Given the description of an element on the screen output the (x, y) to click on. 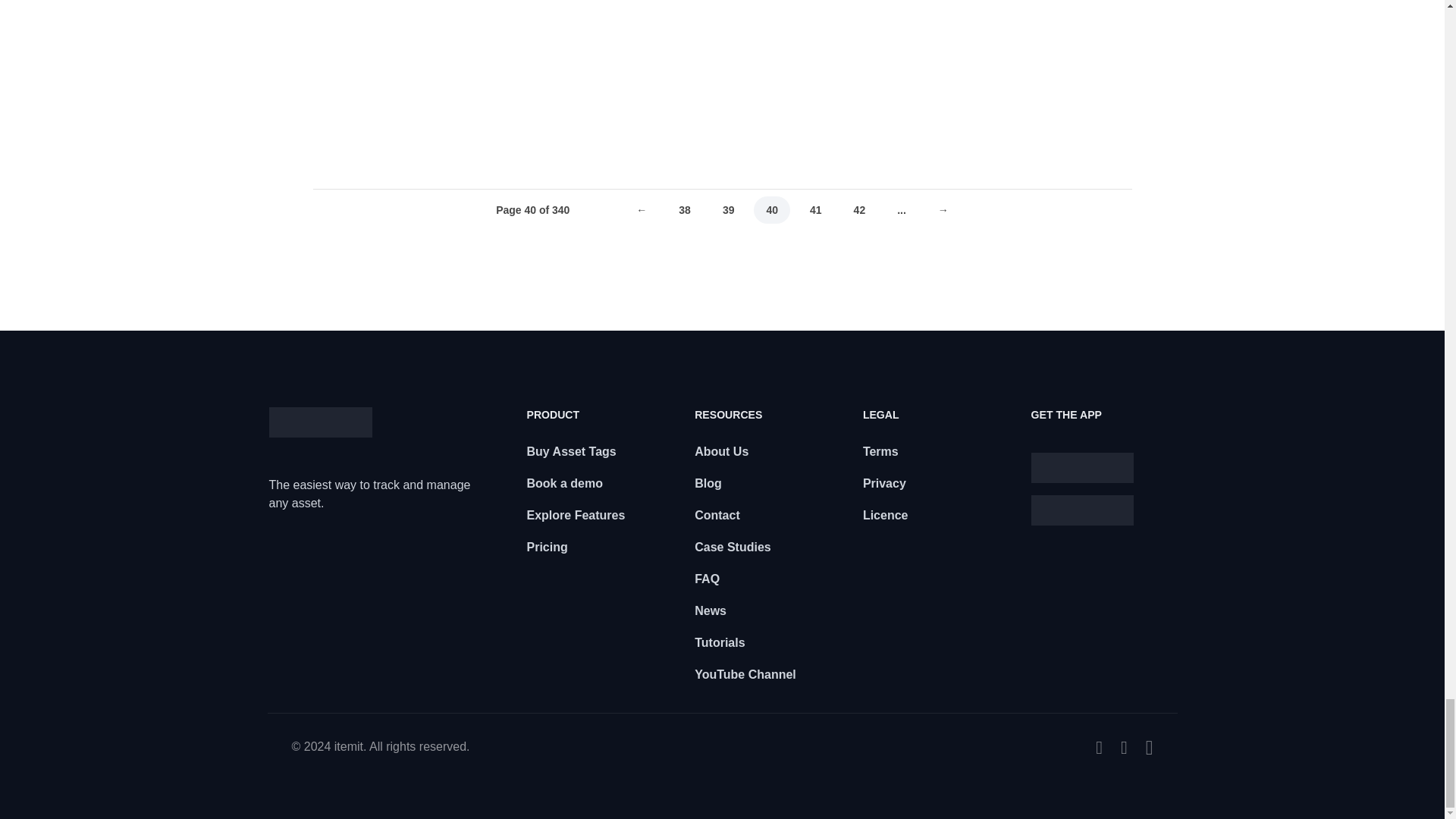
Page 42 (859, 210)
Page 39 (728, 210)
itemit-logo-alt (319, 422)
appstore button (1082, 467)
Page 41 (815, 210)
Page 38 (684, 210)
Google play button (1082, 510)
